Given the description of an element on the screen output the (x, y) to click on. 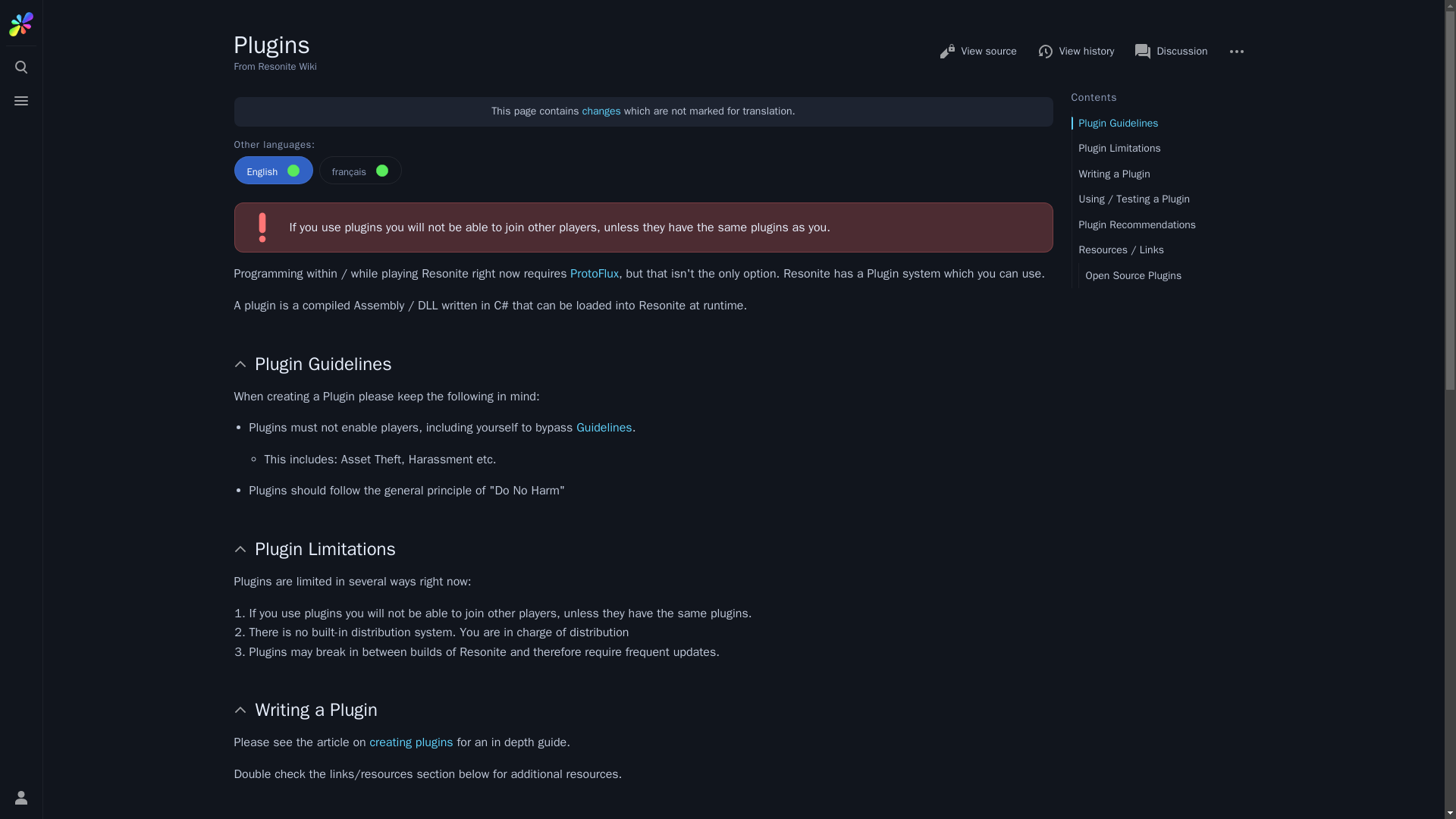
ProtoFlux (594, 273)
Toggle menu (20, 100)
Discussion (1170, 51)
View source (977, 51)
Visit the main page (20, 24)
Toggle personal menu (20, 797)
View history (1076, 51)
changes (601, 110)
Guidelines (603, 427)
